Given the description of an element on the screen output the (x, y) to click on. 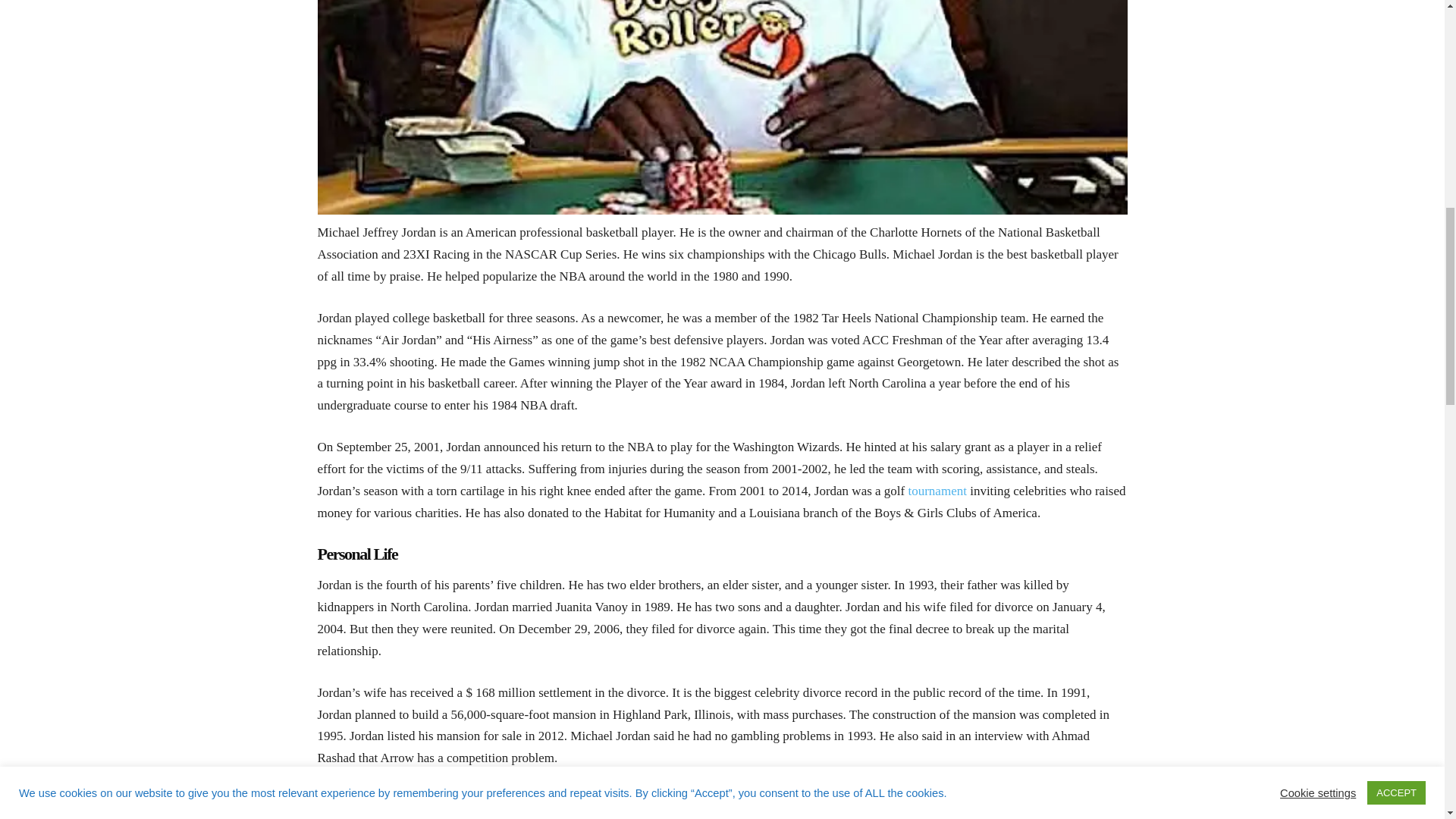
tournament (936, 490)
